Given the description of an element on the screen output the (x, y) to click on. 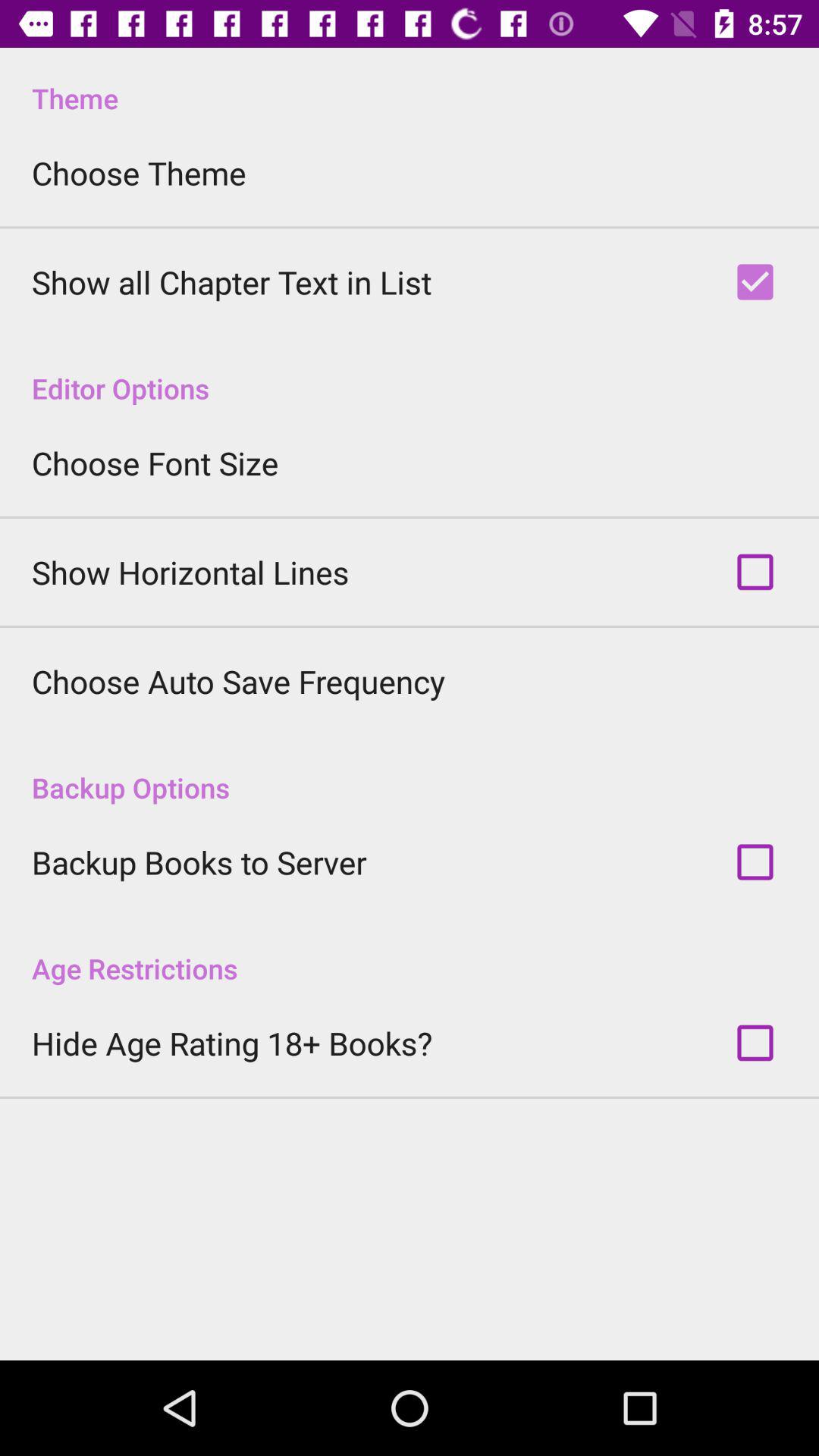
turn on the choose theme app (138, 172)
